Given the description of an element on the screen output the (x, y) to click on. 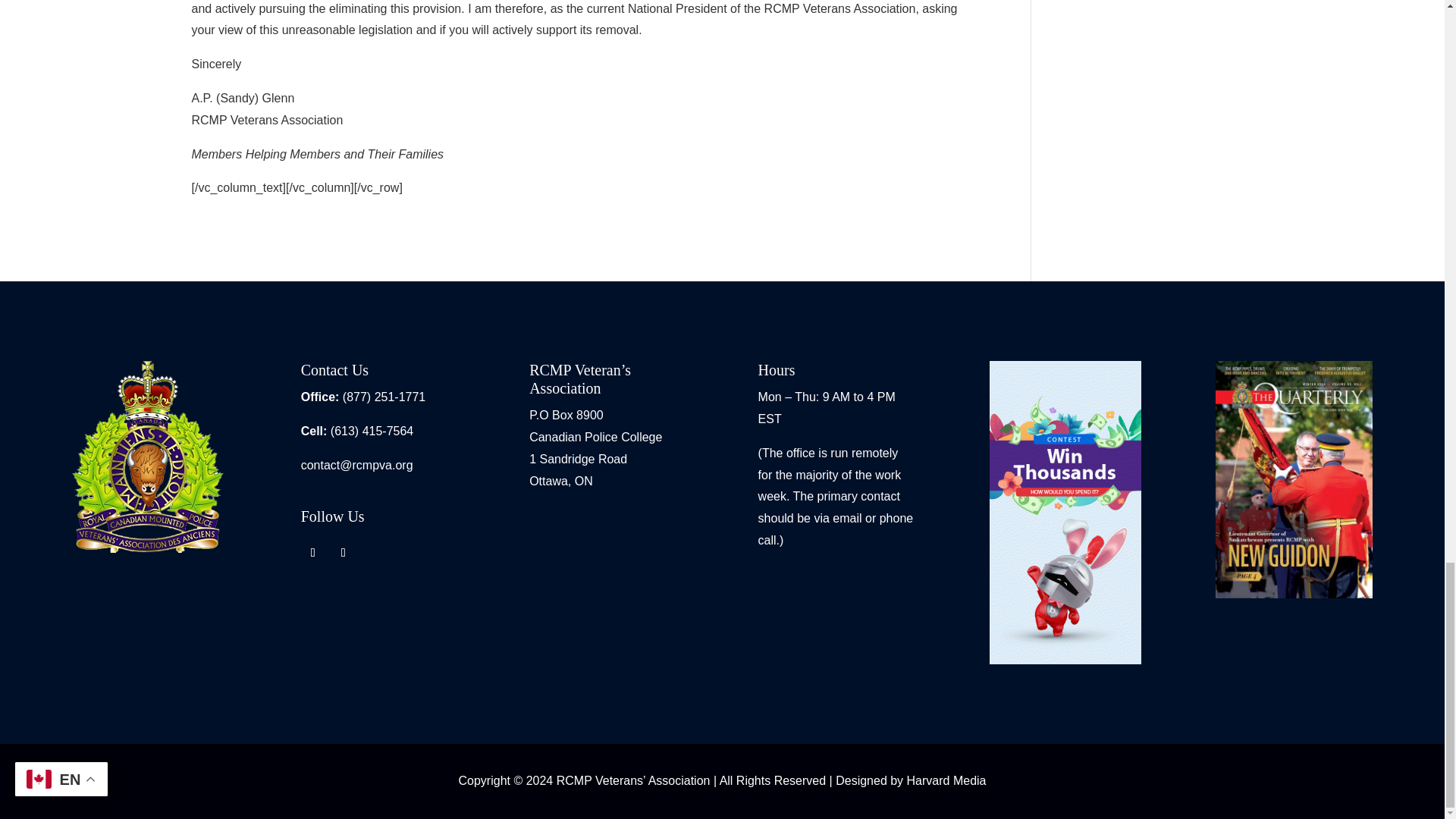
Follow on X (343, 552)
Follow on Facebook (312, 552)
